Given the description of an element on the screen output the (x, y) to click on. 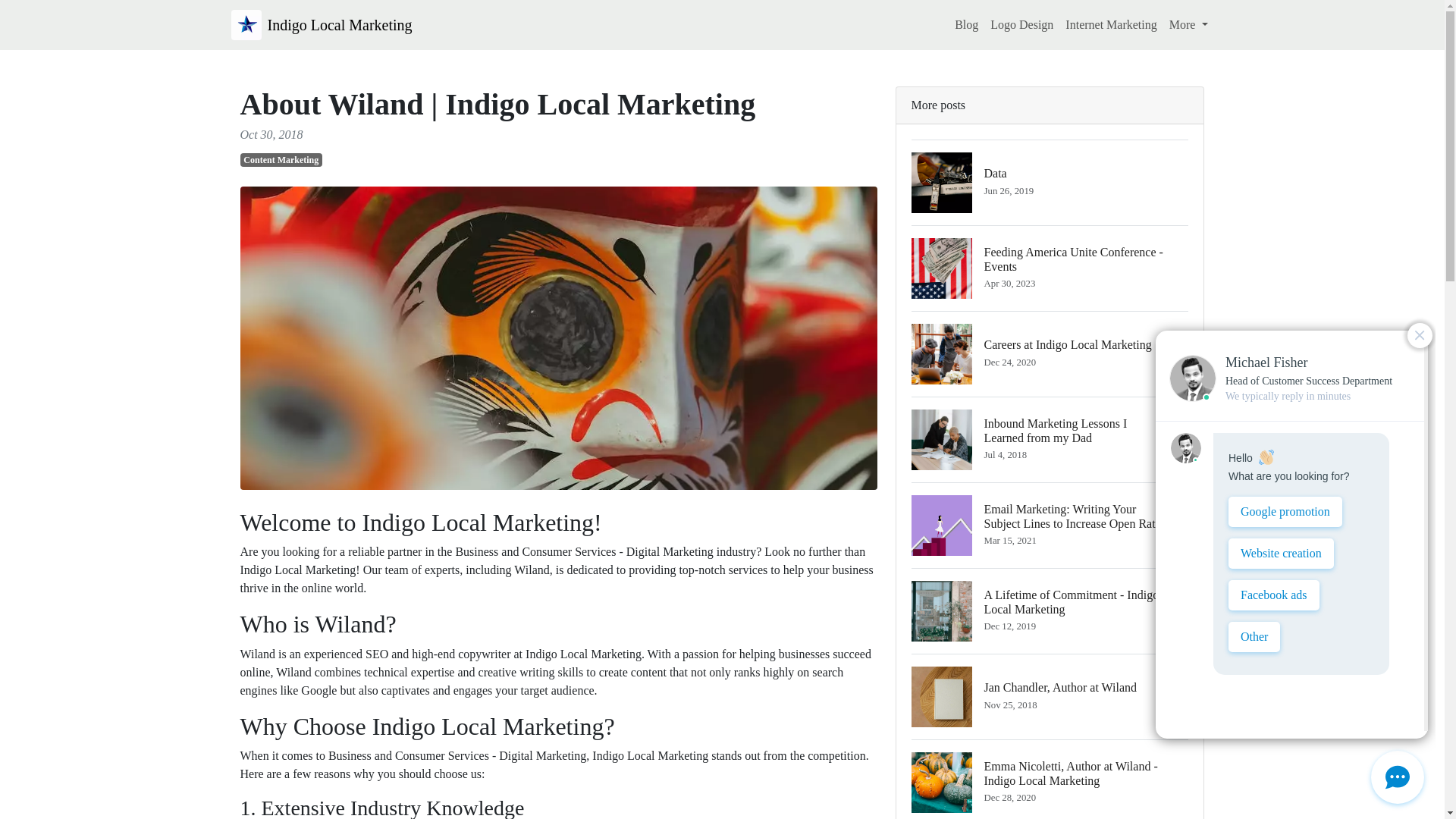
More (1188, 24)
Logo Design (1050, 353)
Content Marketing (1021, 24)
Blog (280, 160)
Internet Marketing (1050, 696)
Indigo Local Marketing (966, 24)
